Given the description of an element on the screen output the (x, y) to click on. 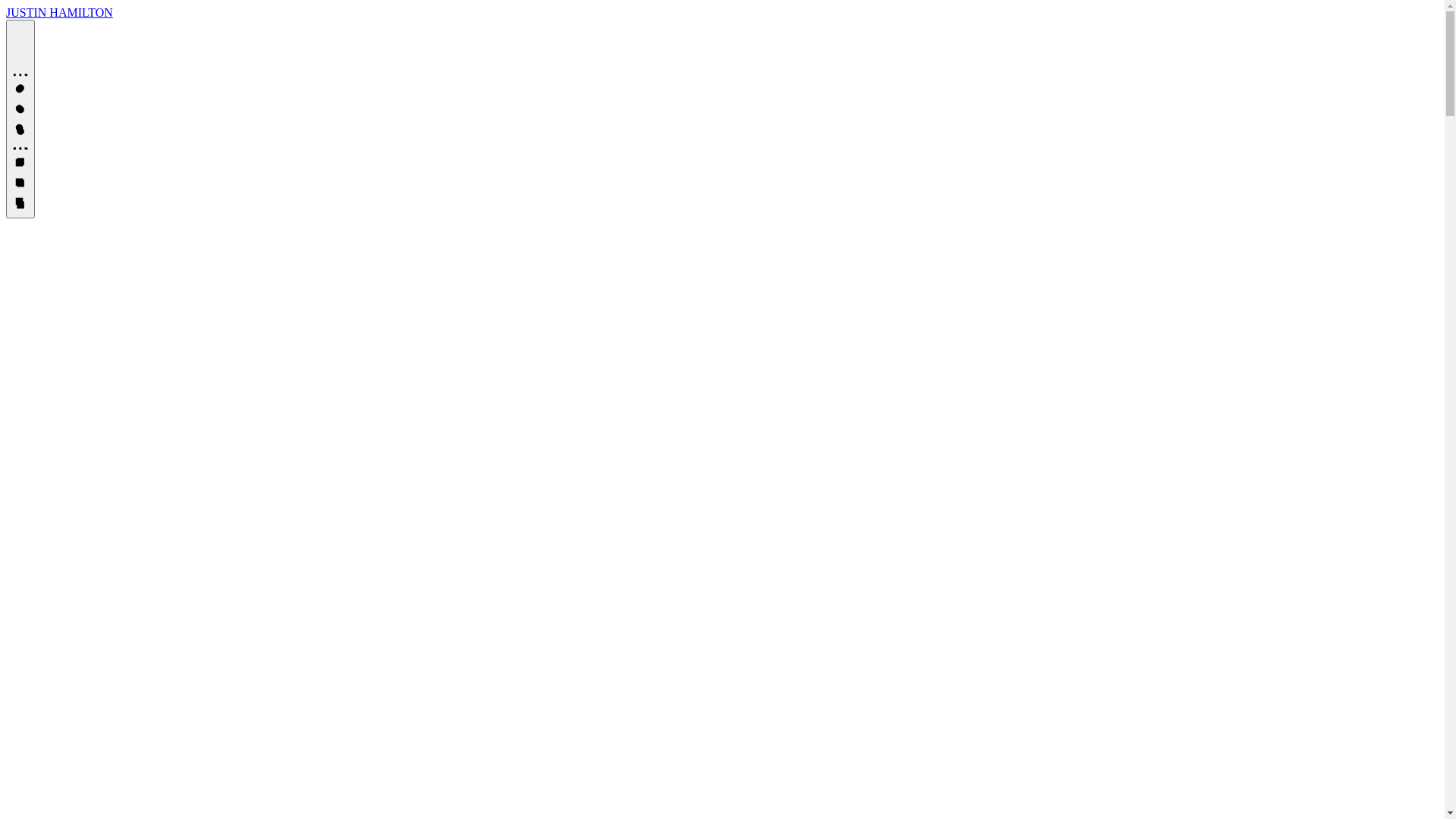
JUSTIN HAMILTON Element type: text (59, 12)
